Given the description of an element on the screen output the (x, y) to click on. 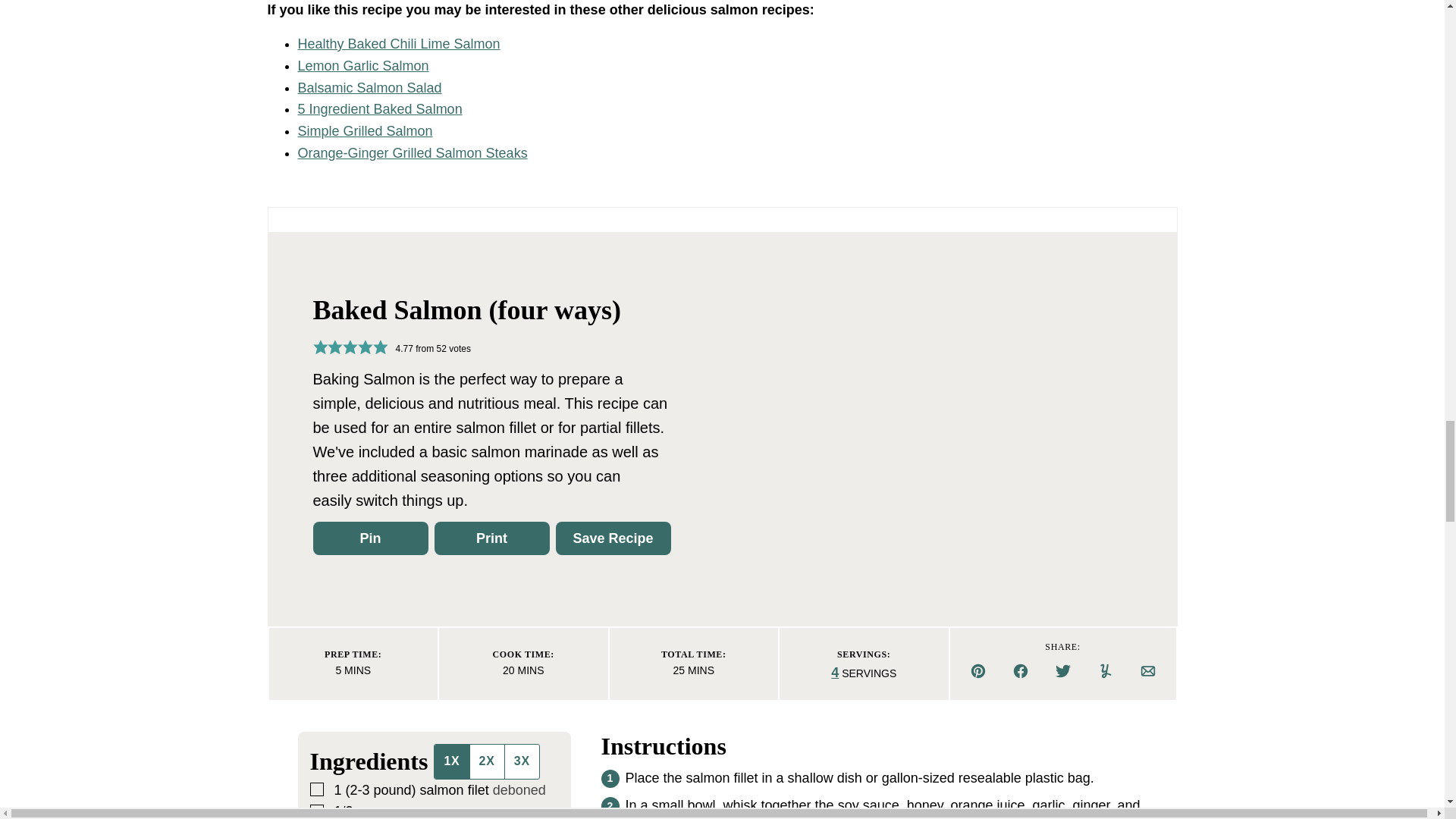
Share on Facebook (1020, 670)
Share on Pinterest (977, 670)
Share via Email (1147, 670)
Share on Twitter (1063, 670)
Share on Yummly (1105, 670)
